Given the description of an element on the screen output the (x, y) to click on. 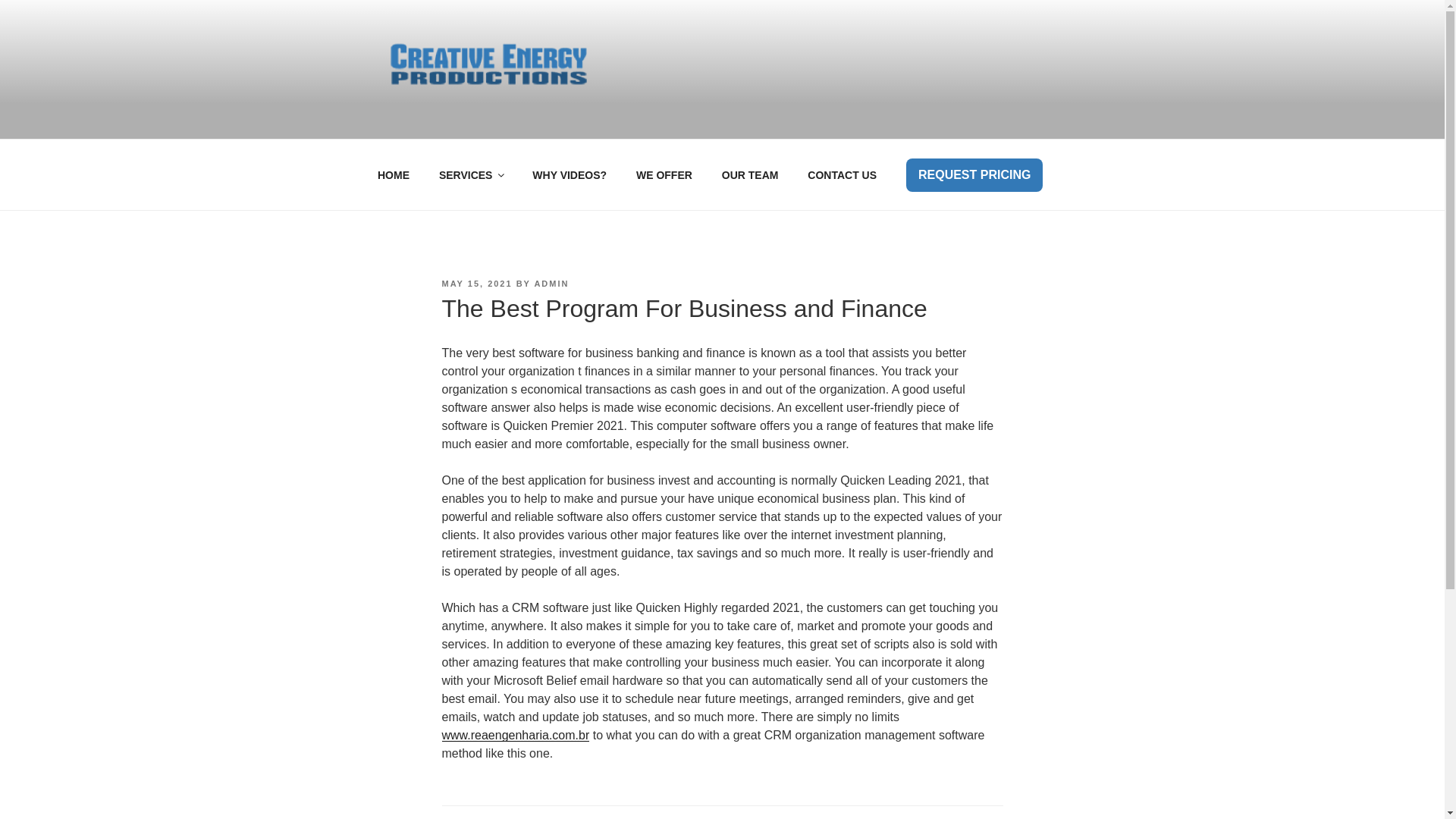
ADMIN (551, 283)
OUR TEAM (749, 174)
WE OFFER (663, 174)
REQUEST PRICING (973, 174)
MAY 15, 2021 (476, 283)
WHY VIDEOS? (569, 174)
HOME (393, 174)
CONTACT US (841, 174)
REQUEST PRICING (973, 174)
www.reaengenharia.com.br (515, 735)
